Given the description of an element on the screen output the (x, y) to click on. 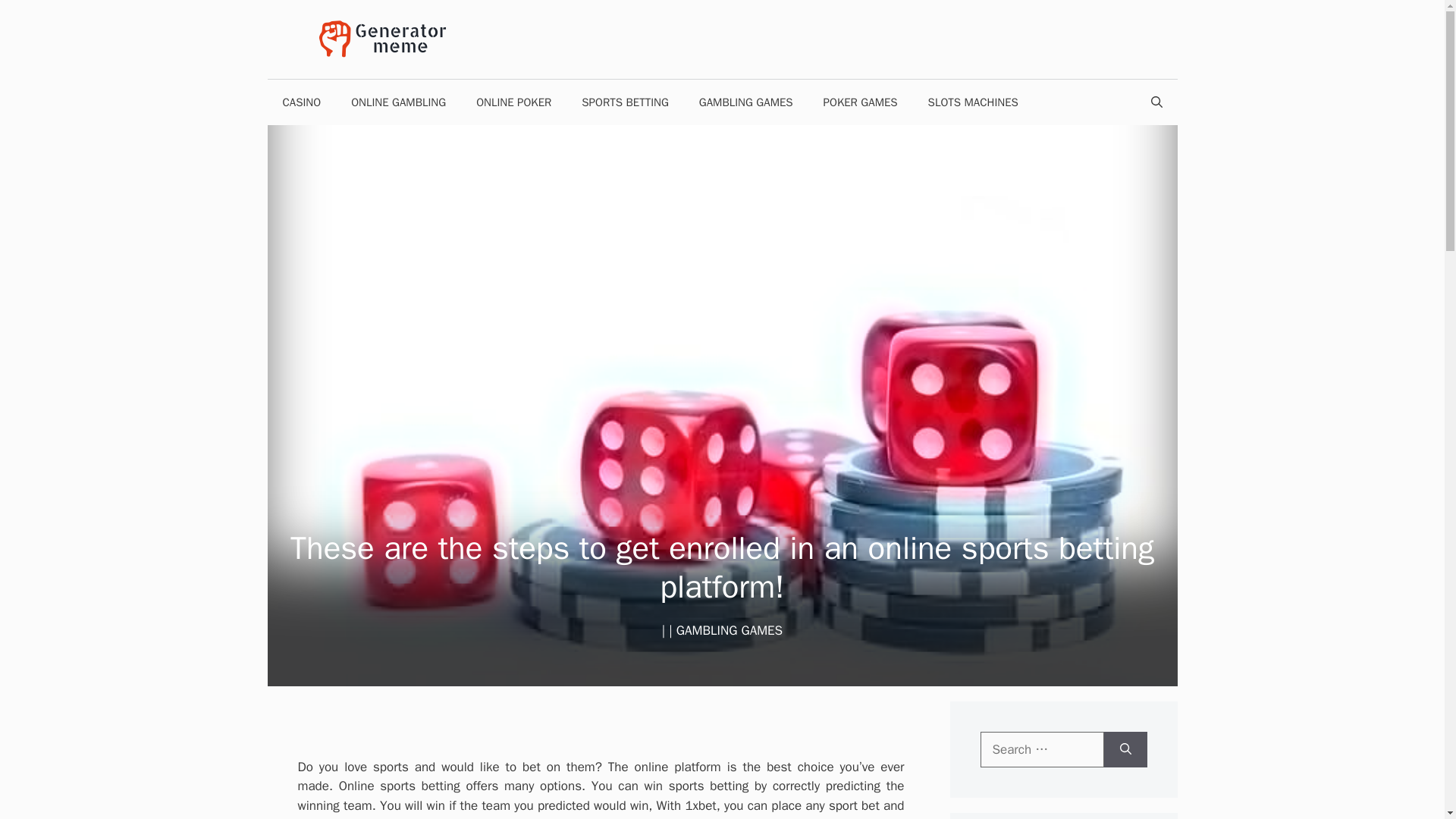
Search for: (1041, 750)
SLOTS MACHINES (972, 102)
CASINO (301, 102)
POKER GAMES (860, 102)
ONLINE POKER (513, 102)
ONLINE GAMBLING (398, 102)
SPORTS BETTING (625, 102)
GAMBLING GAMES (730, 630)
GAMBLING GAMES (746, 102)
